Given the description of an element on the screen output the (x, y) to click on. 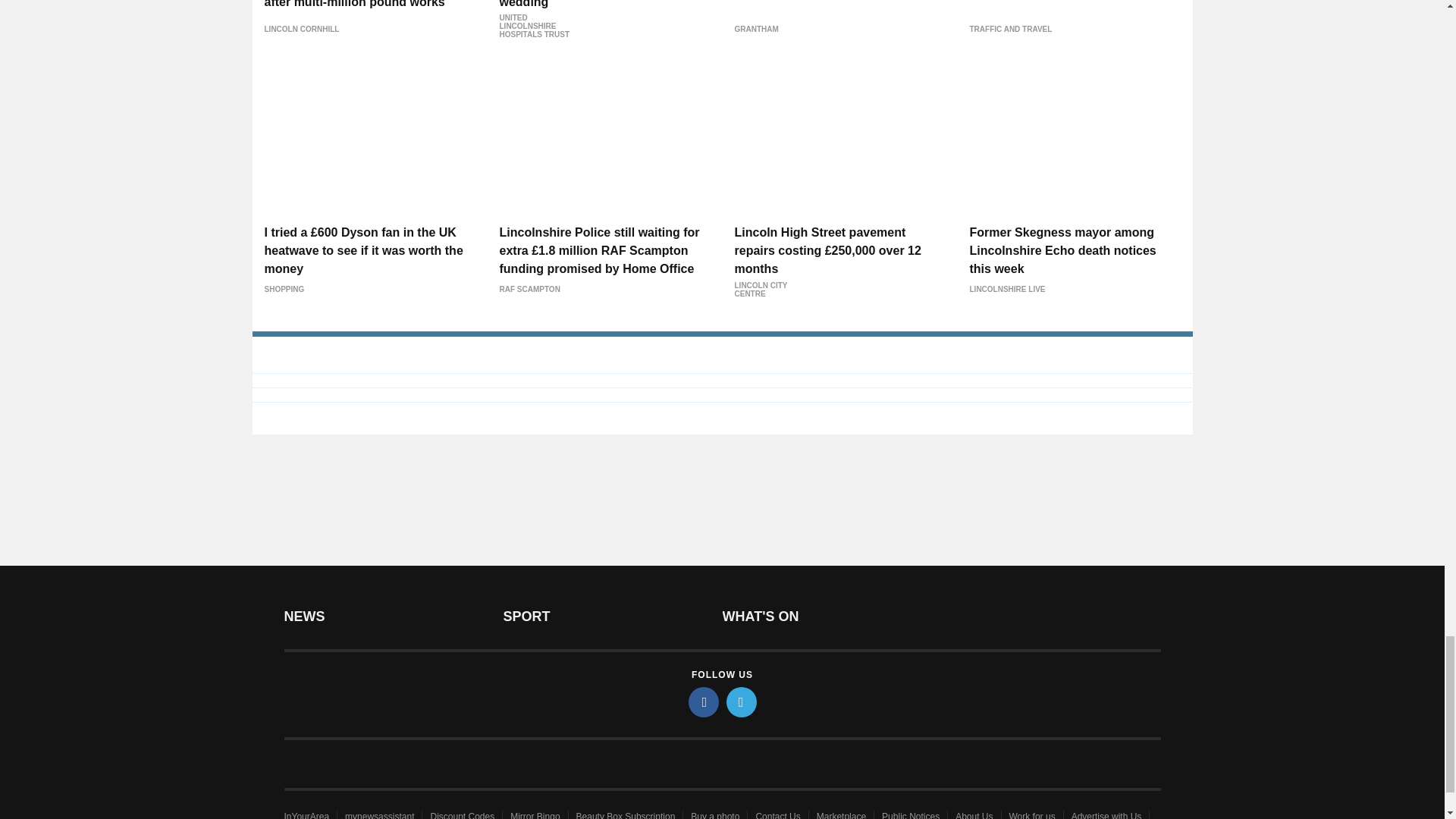
twitter (741, 702)
facebook (703, 702)
